Given the description of an element on the screen output the (x, y) to click on. 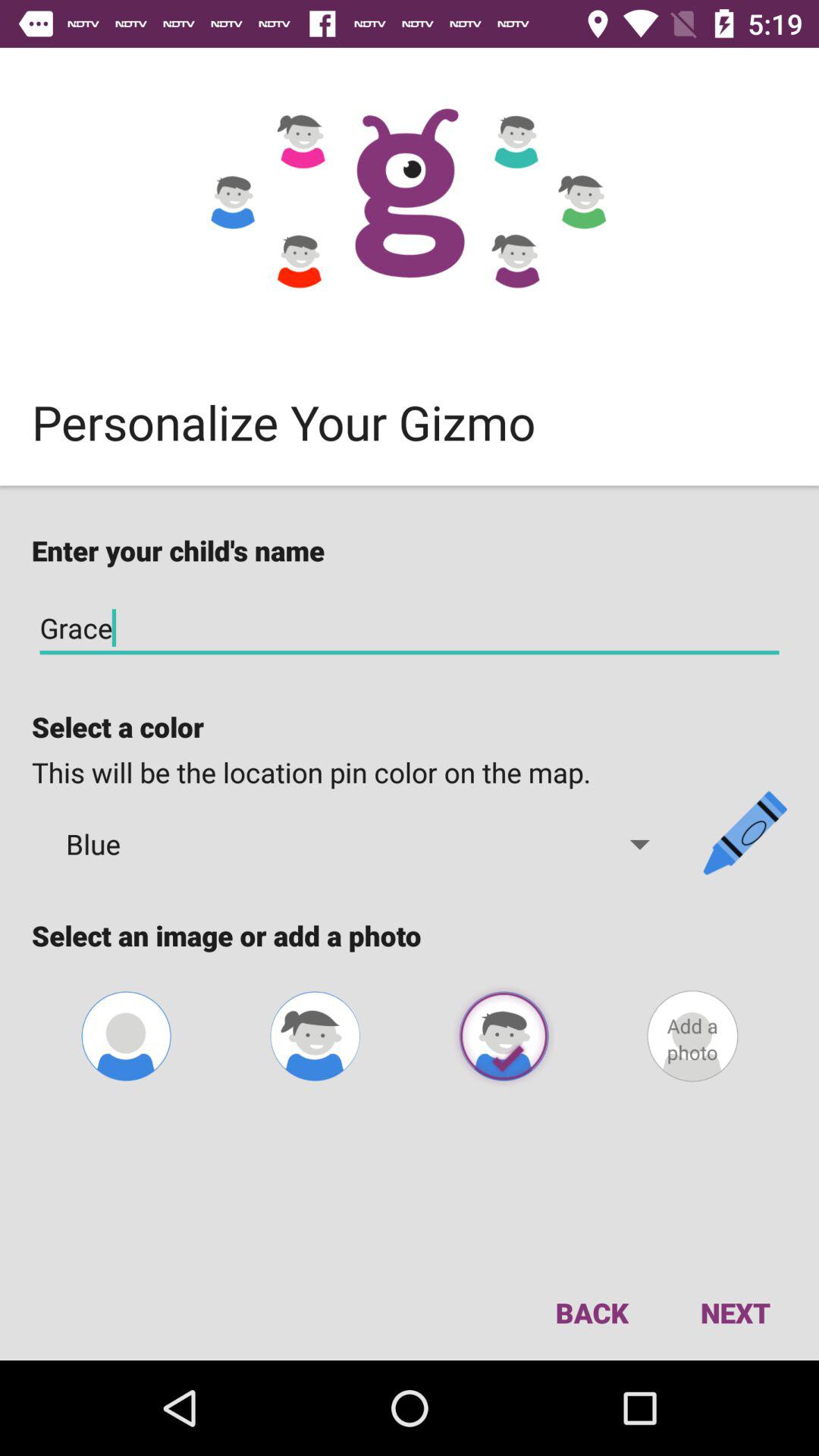
select image (503, 1036)
